Given the description of an element on the screen output the (x, y) to click on. 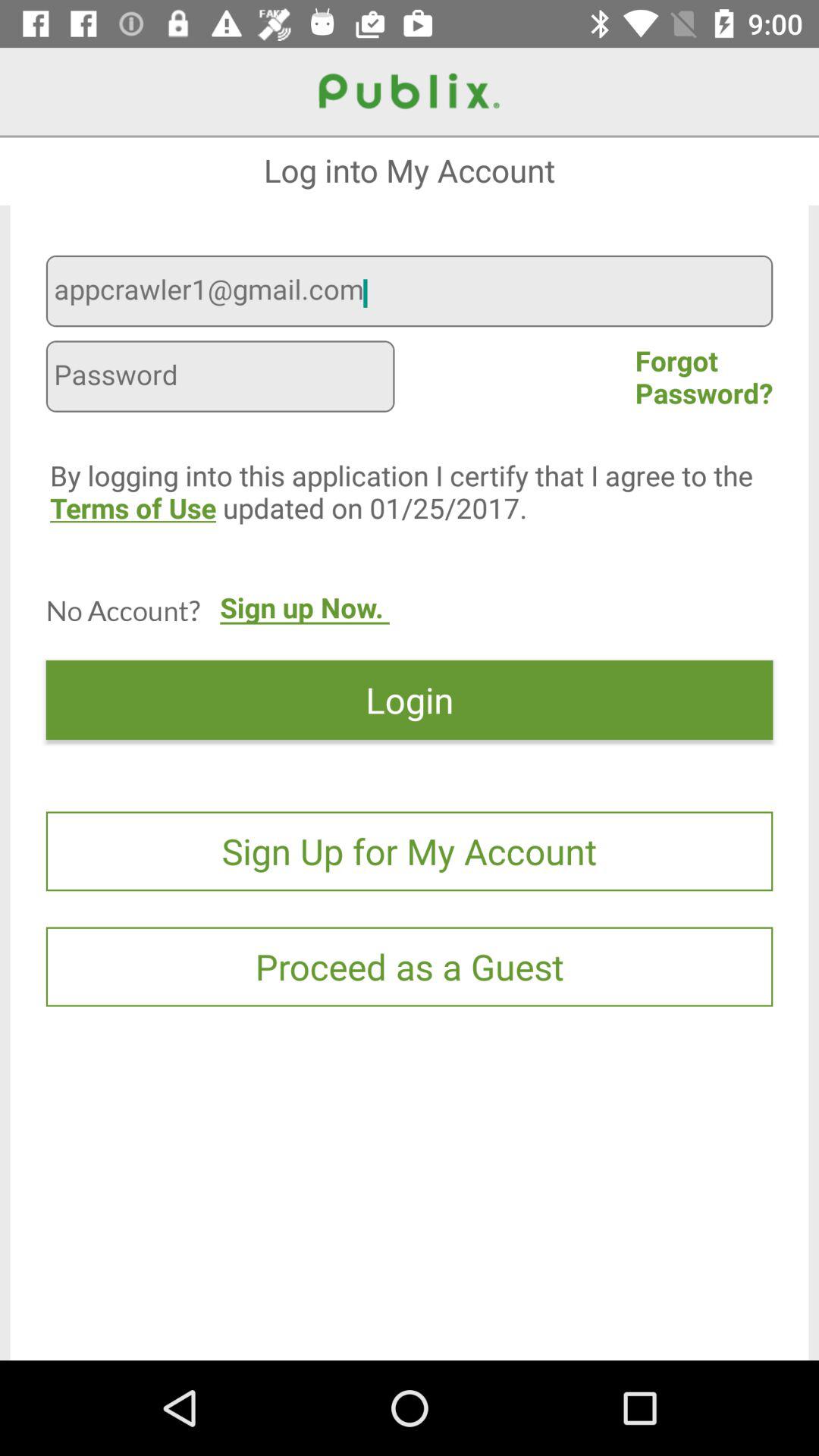
select the icon above the log into my item (409, 136)
